Given the description of an element on the screen output the (x, y) to click on. 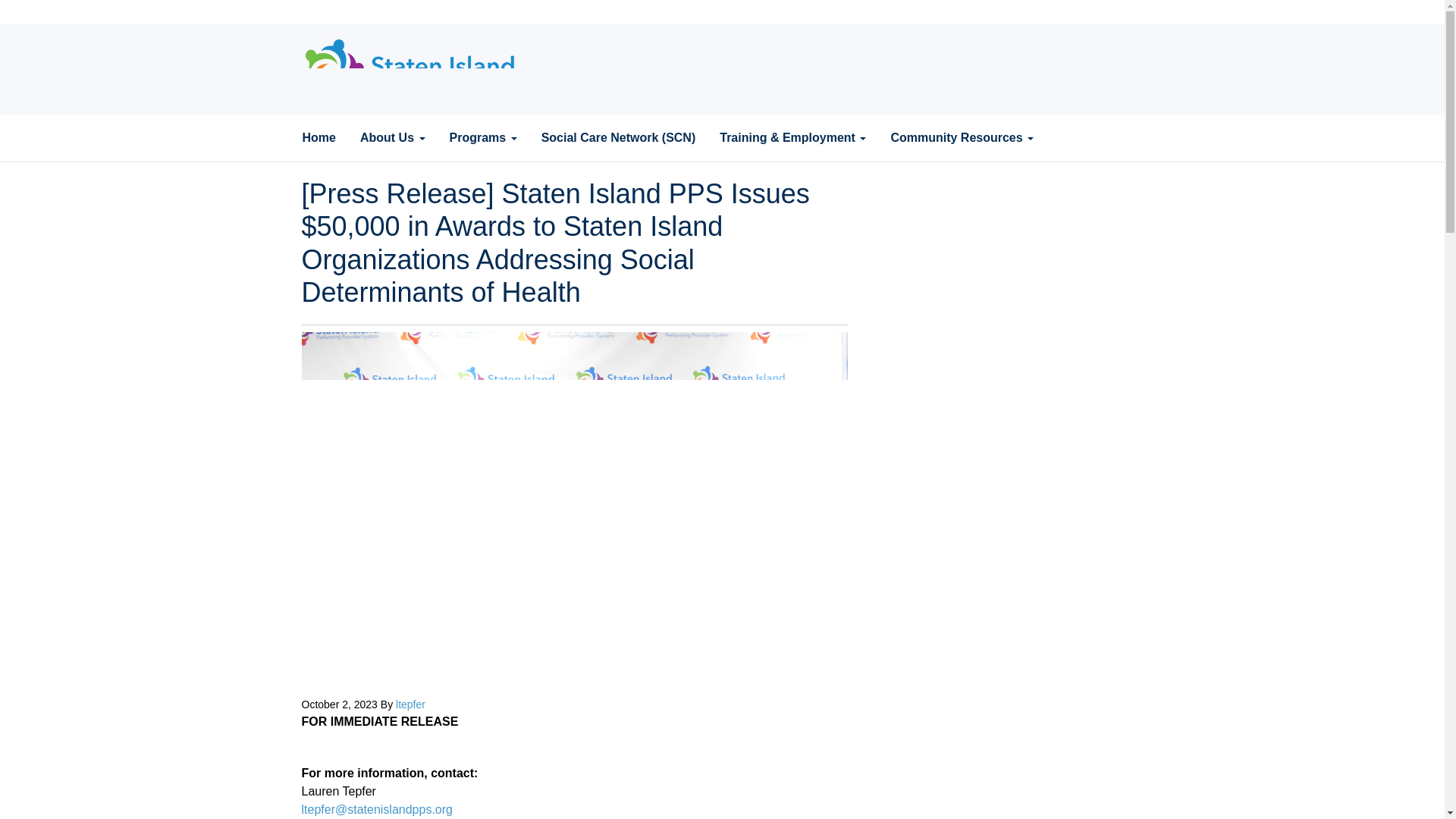
Programs (482, 138)
Home (318, 138)
ltepfer (410, 704)
Community Resources (961, 138)
About Us (392, 138)
